Given the description of an element on the screen output the (x, y) to click on. 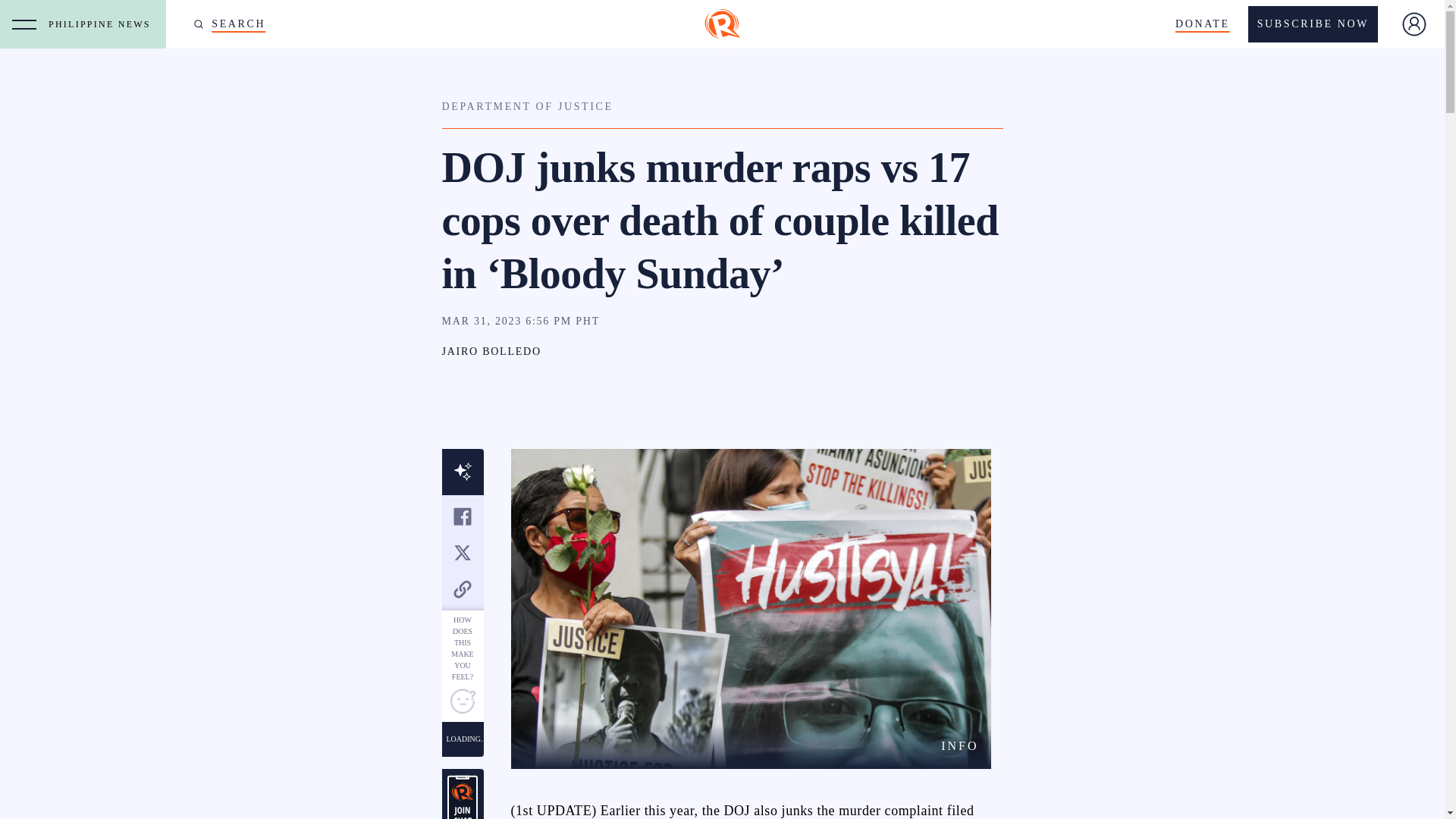
OPEN NAVIGATION (24, 24)
PHILIPPINE NEWS (103, 23)
